Given the description of an element on the screen output the (x, y) to click on. 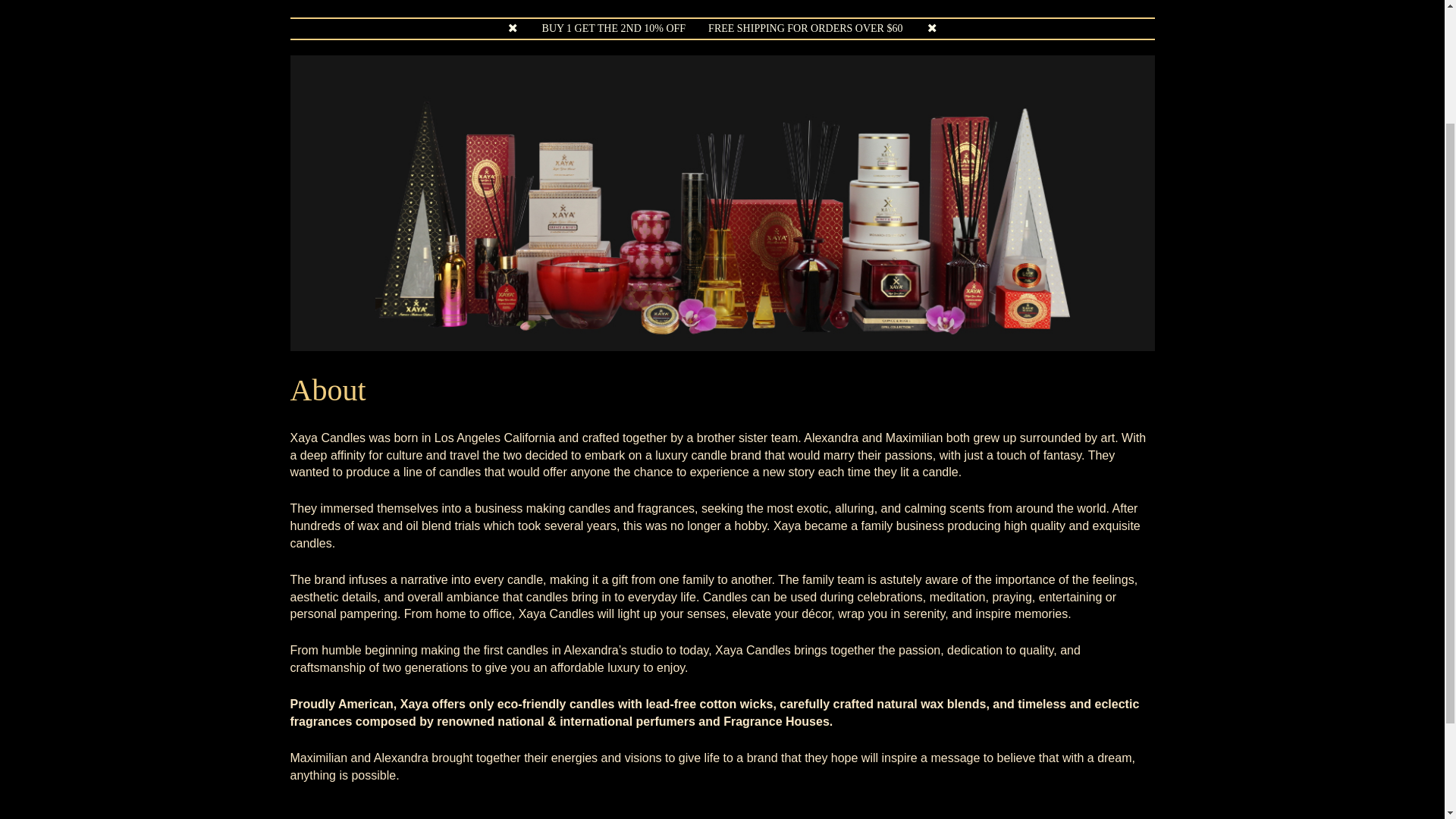
Fragrances (819, 1)
Candles (479, 1)
Candles (479, 1)
Ambiance Diffusers (591, 1)
Ambiance Diffusers (591, 1)
Fragrances (819, 1)
